Given the description of an element on the screen output the (x, y) to click on. 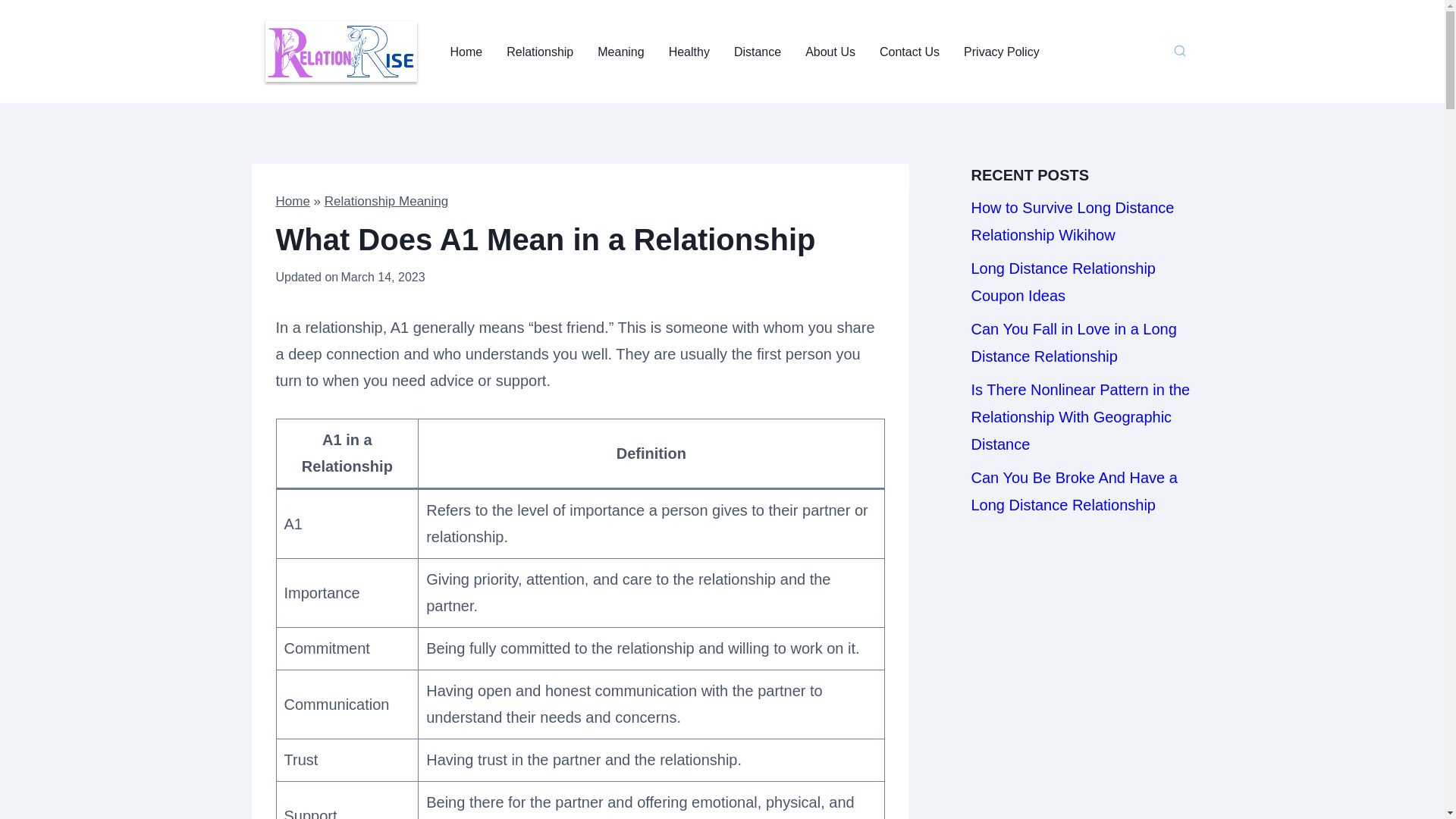
About Us (830, 51)
Distance (757, 51)
Home (466, 51)
Relationship (540, 51)
Meaning (620, 51)
Home (293, 201)
Contact Us (909, 51)
Privacy Policy (1001, 51)
Relationship Meaning (386, 201)
Healthy (689, 51)
